Given the description of an element on the screen output the (x, y) to click on. 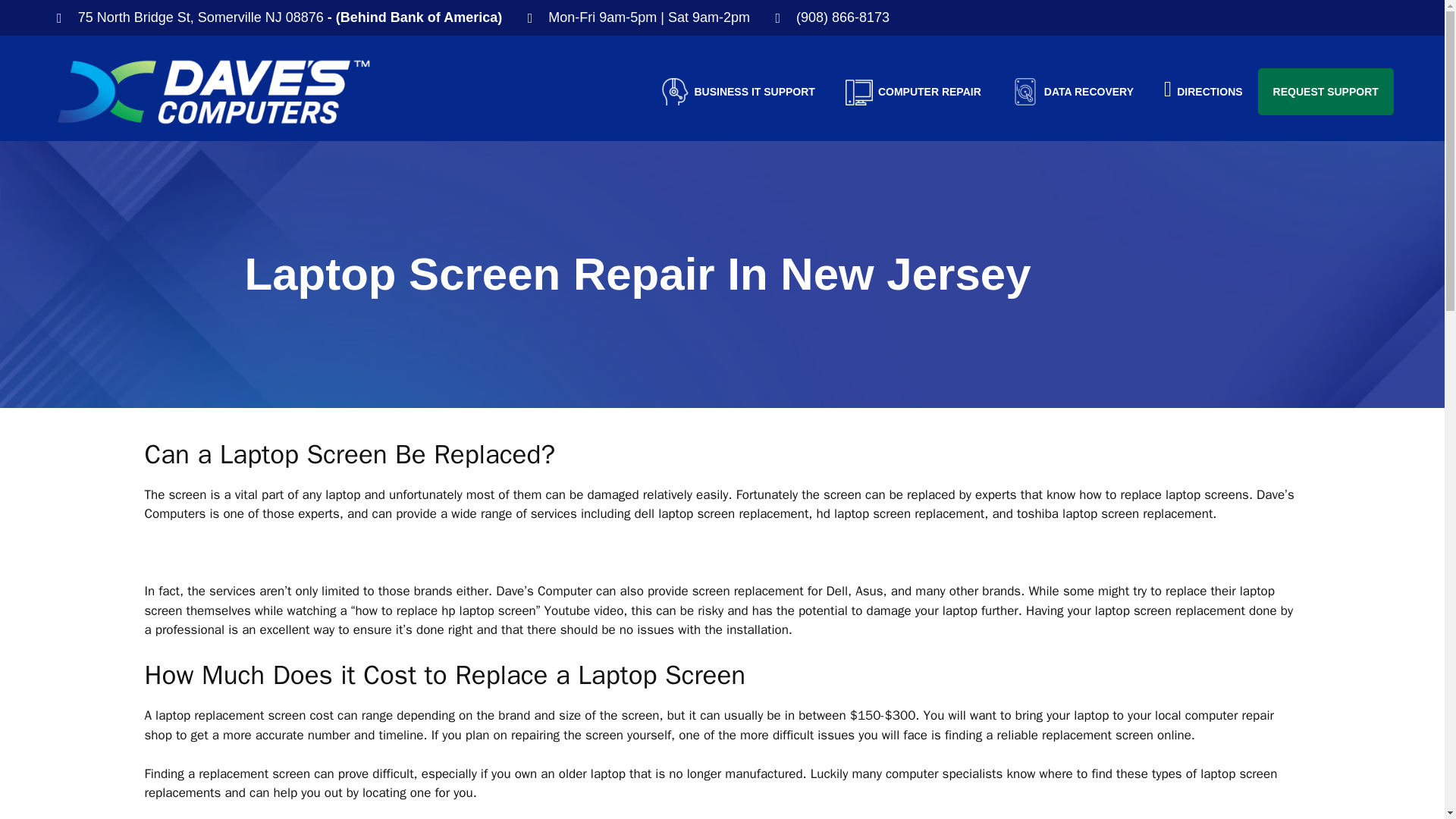
COMPUTER REPAIR (912, 91)
BUSINESS IT SUPPORT (737, 91)
